Given the description of an element on the screen output the (x, y) to click on. 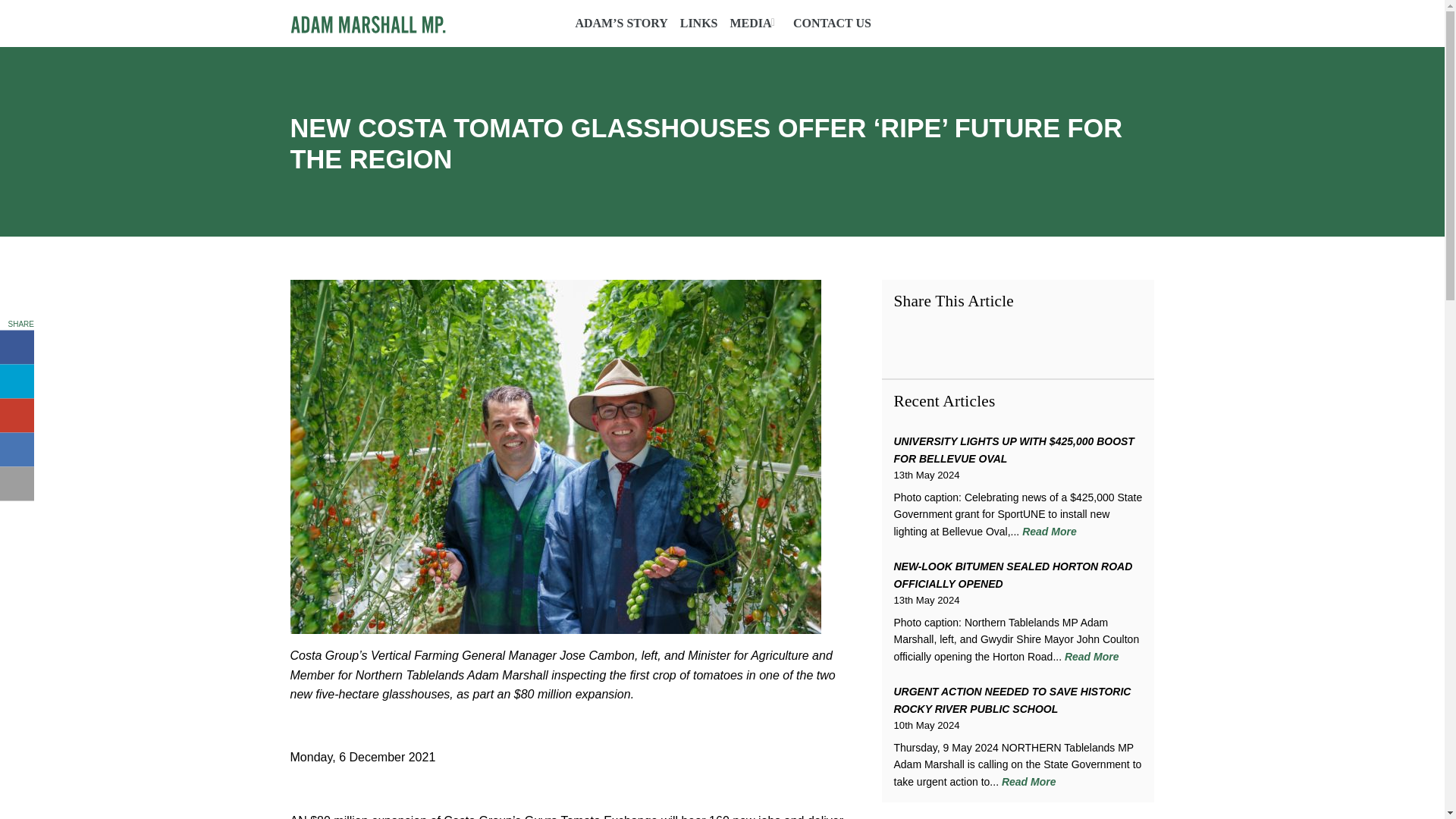
Read More (1049, 531)
Read More (1029, 781)
share via email (16, 483)
Adam's Story (620, 23)
Contact Us (831, 23)
Search (1148, 21)
share on twitter (16, 380)
CONTACT US (831, 23)
Read More (1091, 656)
NEW-LOOK BITUMEN SEALED HORTON ROAD OFFICIALLY OPENED (1012, 574)
share on facebook (16, 347)
share on linkedin (16, 449)
MEDIA (752, 23)
share on google plus (16, 415)
